Given the description of an element on the screen output the (x, y) to click on. 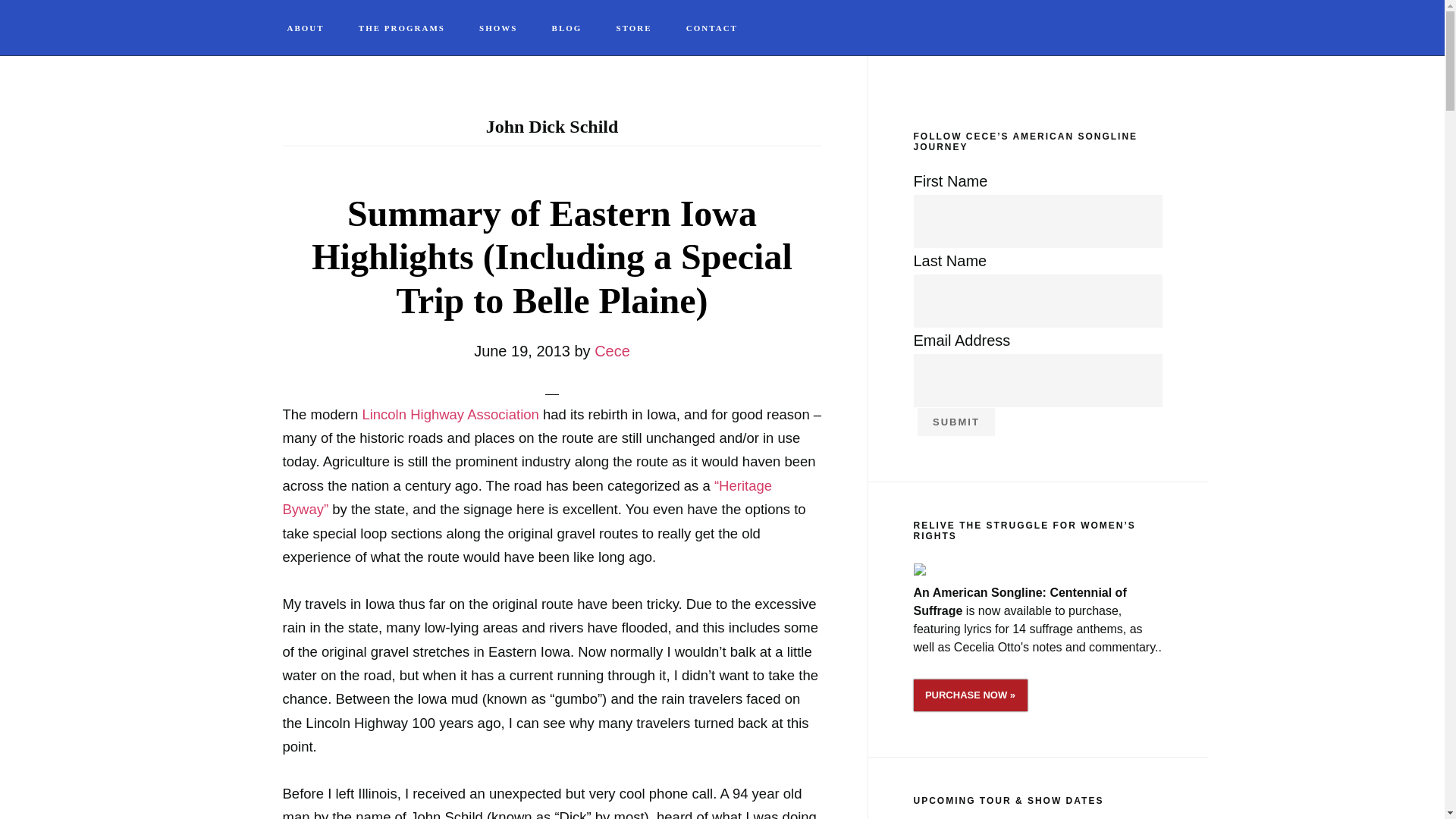
Cece (612, 351)
SHOWS (498, 28)
Lincoln Highway Association (449, 414)
THE PROGRAMS (401, 28)
ABOUT (305, 28)
Indiana and Suburban Chicago Highlights (449, 414)
AN AMERICAN SONGLINE (1296, 33)
CONTACT (711, 28)
BLOG (566, 28)
STORE (633, 28)
